Given the description of an element on the screen output the (x, y) to click on. 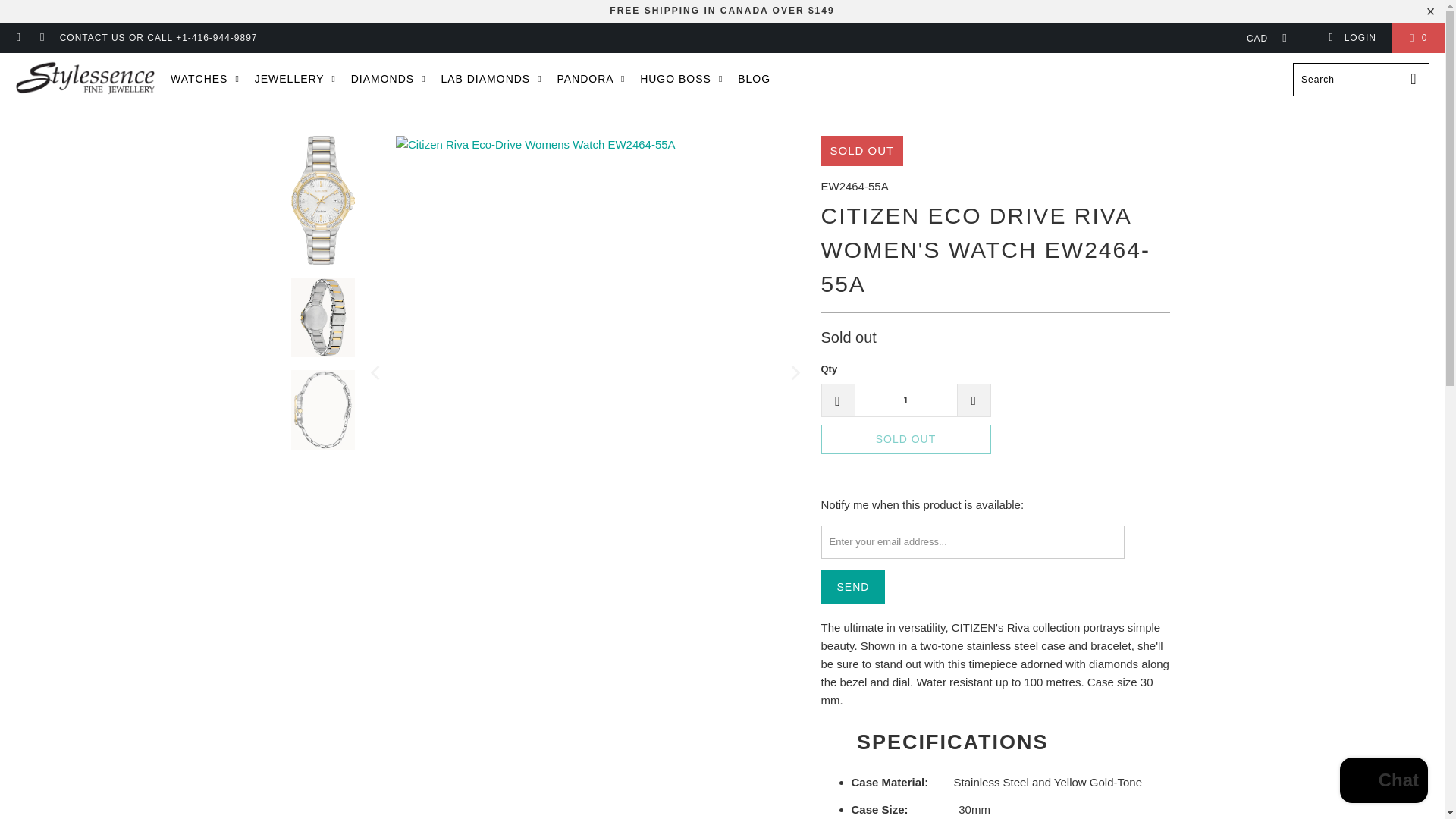
Stylessence Fine Jewellery on Instagram (41, 37)
My Account  (1351, 37)
Send (853, 587)
Stylessence Fine Jewellery (84, 78)
Stylessence Fine Jewellery on Facebook (17, 37)
1 (904, 400)
